Given the description of an element on the screen output the (x, y) to click on. 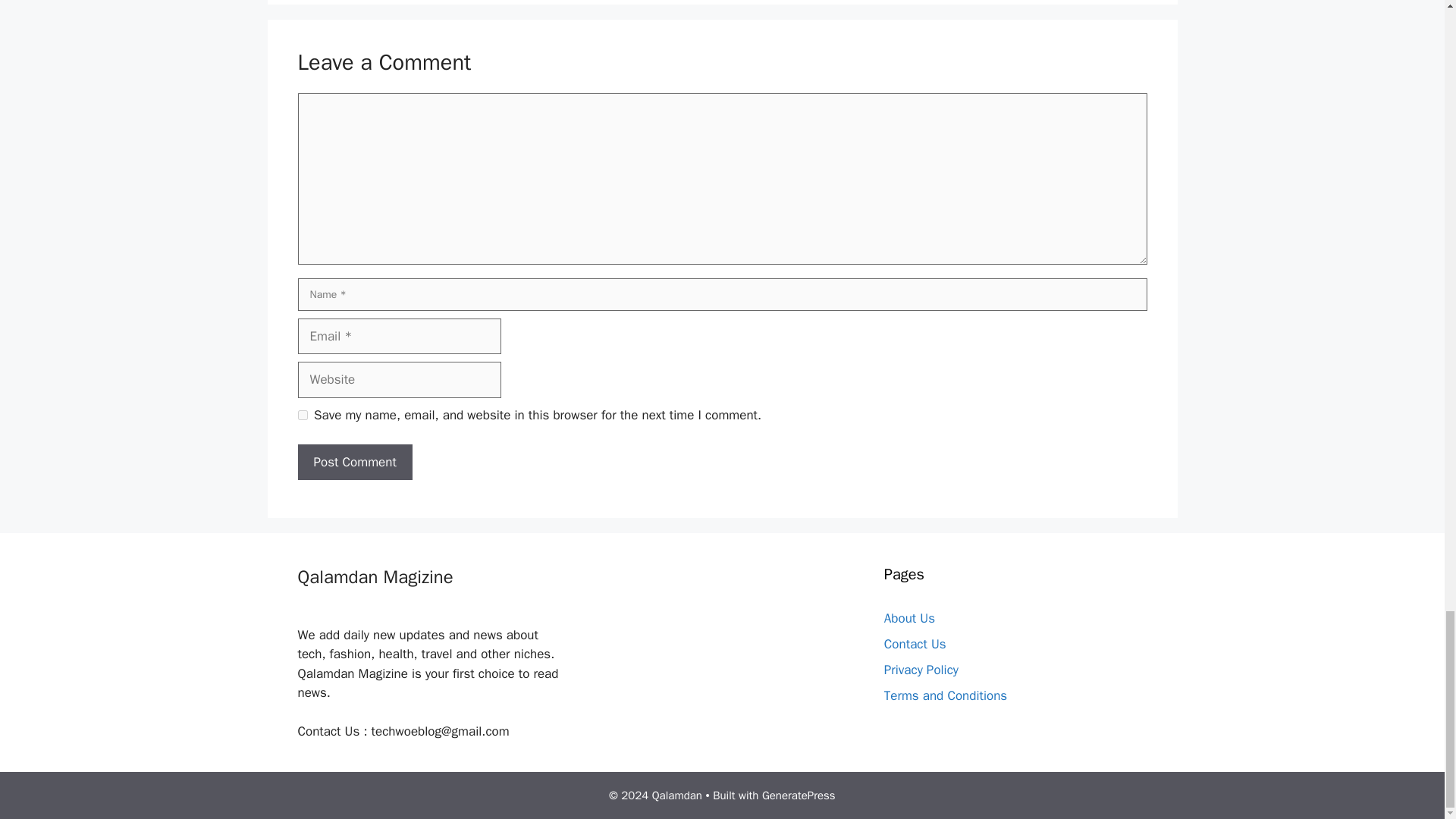
Post Comment (354, 462)
yes (302, 415)
Terms and Conditions (945, 695)
About Us (908, 618)
Privacy Policy (920, 669)
Contact Us (914, 643)
Post Comment (354, 462)
GeneratePress (798, 795)
